Given the description of an element on the screen output the (x, y) to click on. 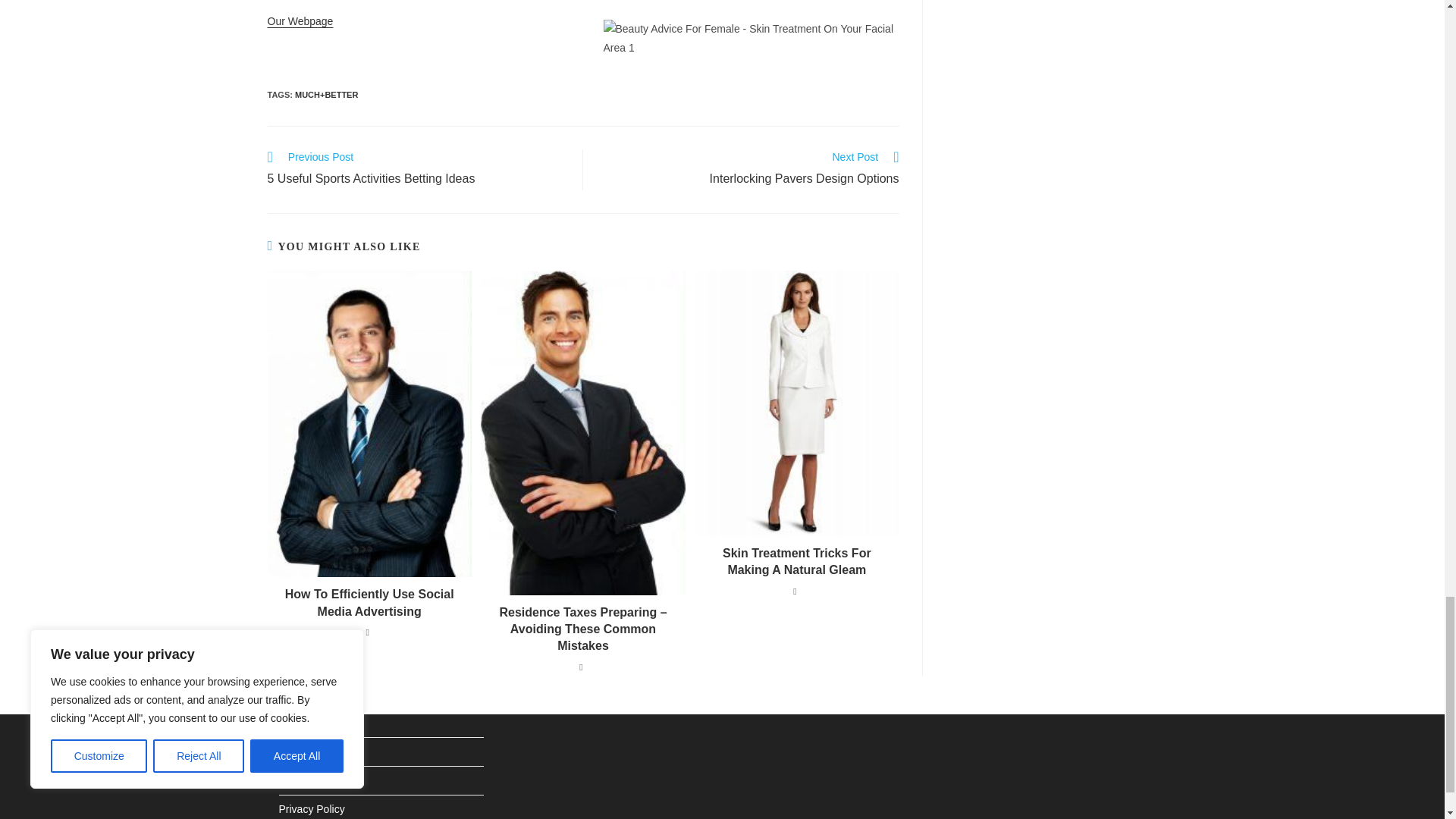
Our Webpage (299, 21)
How To Efficiently Use Social Media Advertising (748, 169)
